Given the description of an element on the screen output the (x, y) to click on. 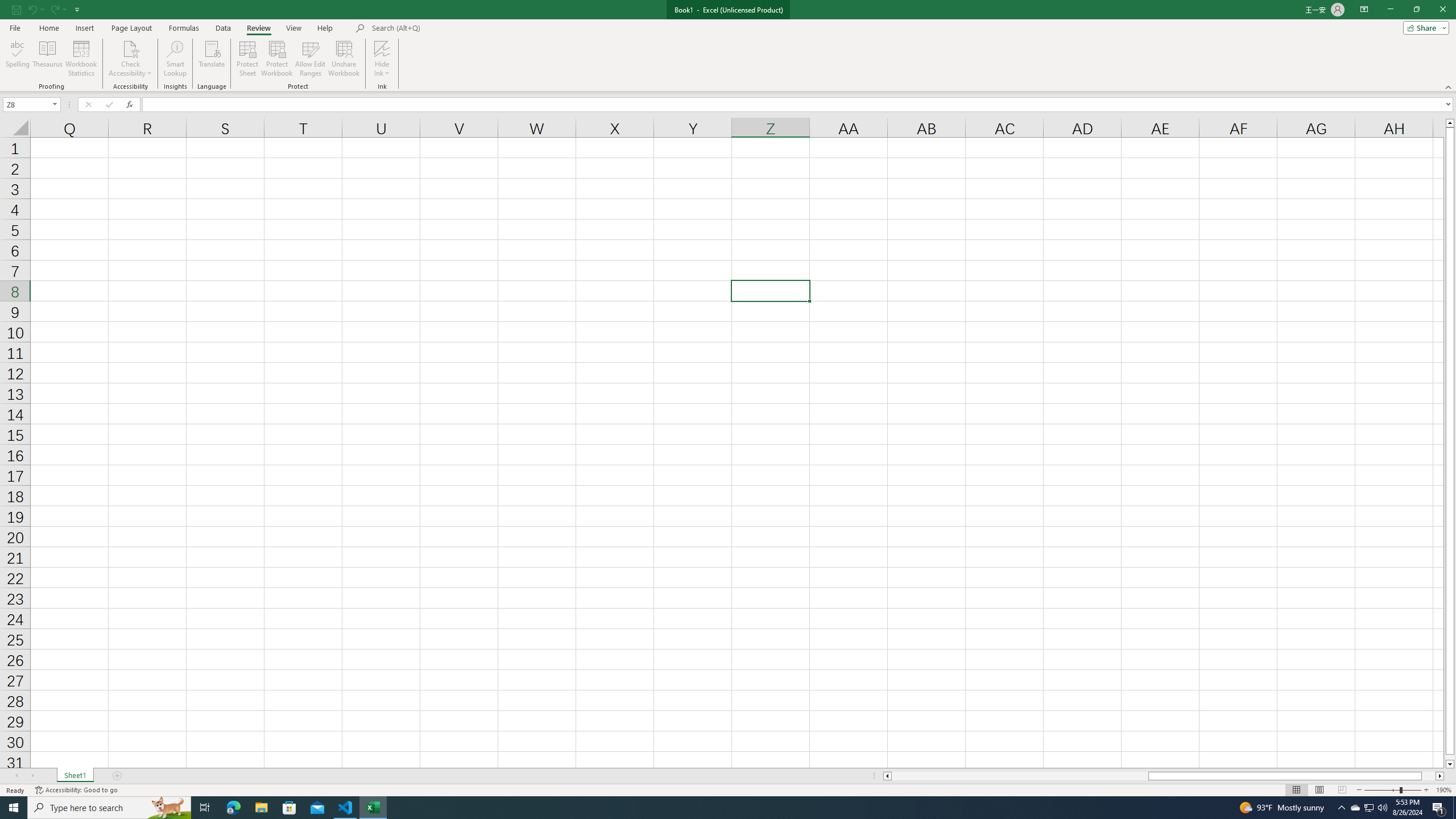
Page left (1019, 775)
Protect Workbook... (277, 58)
Hide Ink (381, 58)
Smart Lookup (175, 58)
Workbook Statistics (81, 58)
Protect Sheet... (247, 58)
